Given the description of an element on the screen output the (x, y) to click on. 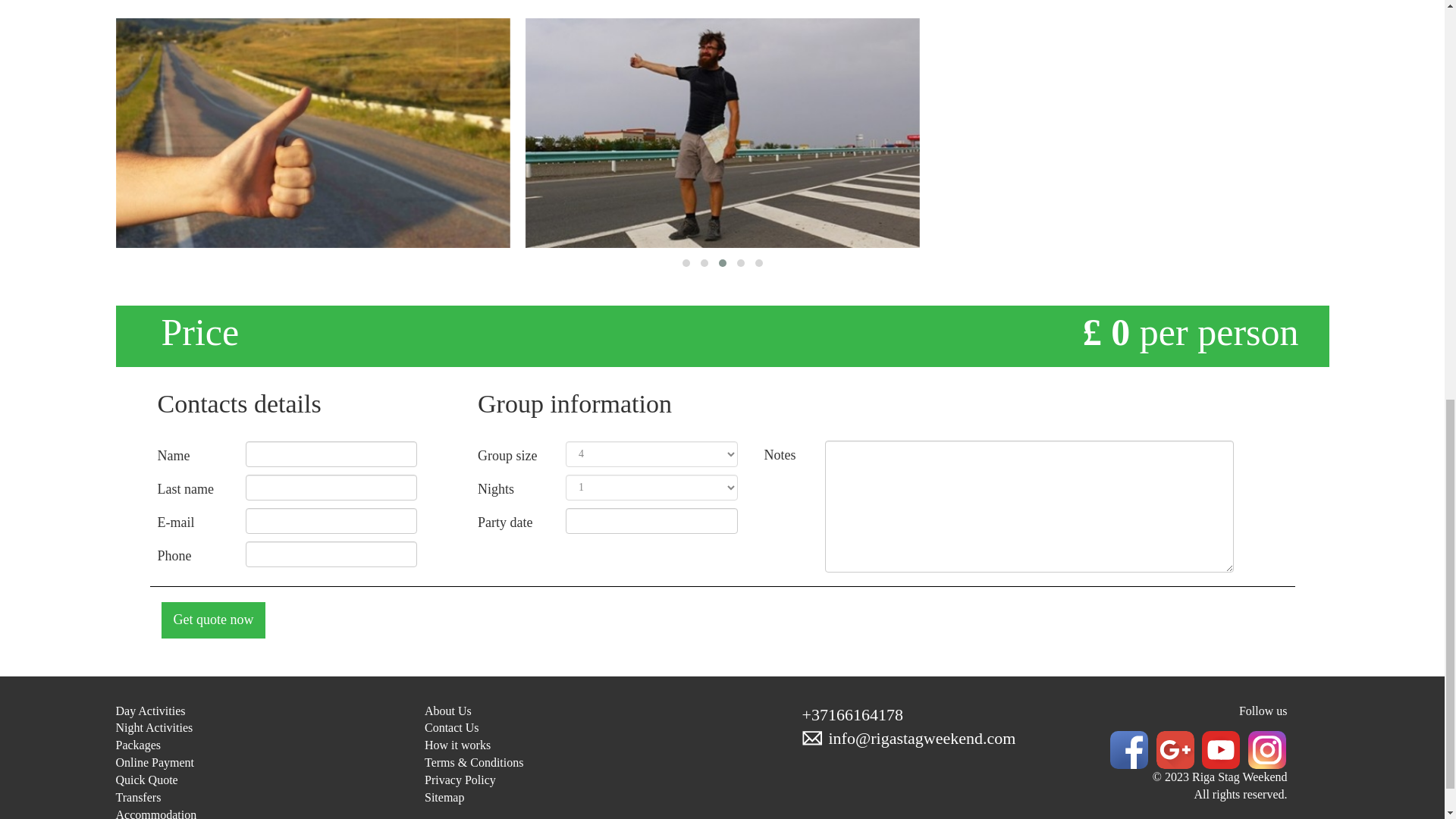
Transfers (137, 797)
Quick Quote (146, 779)
Online Payment (154, 762)
Accommodation (155, 813)
Night Activities (153, 727)
Transfers (137, 797)
Night Activities (153, 727)
Packages (137, 744)
Online Payment (154, 762)
Packages (137, 744)
Day Activities (149, 710)
Quick Quote (146, 779)
Day Activities (149, 710)
About Us (448, 710)
Get quote now (212, 619)
